Given the description of an element on the screen output the (x, y) to click on. 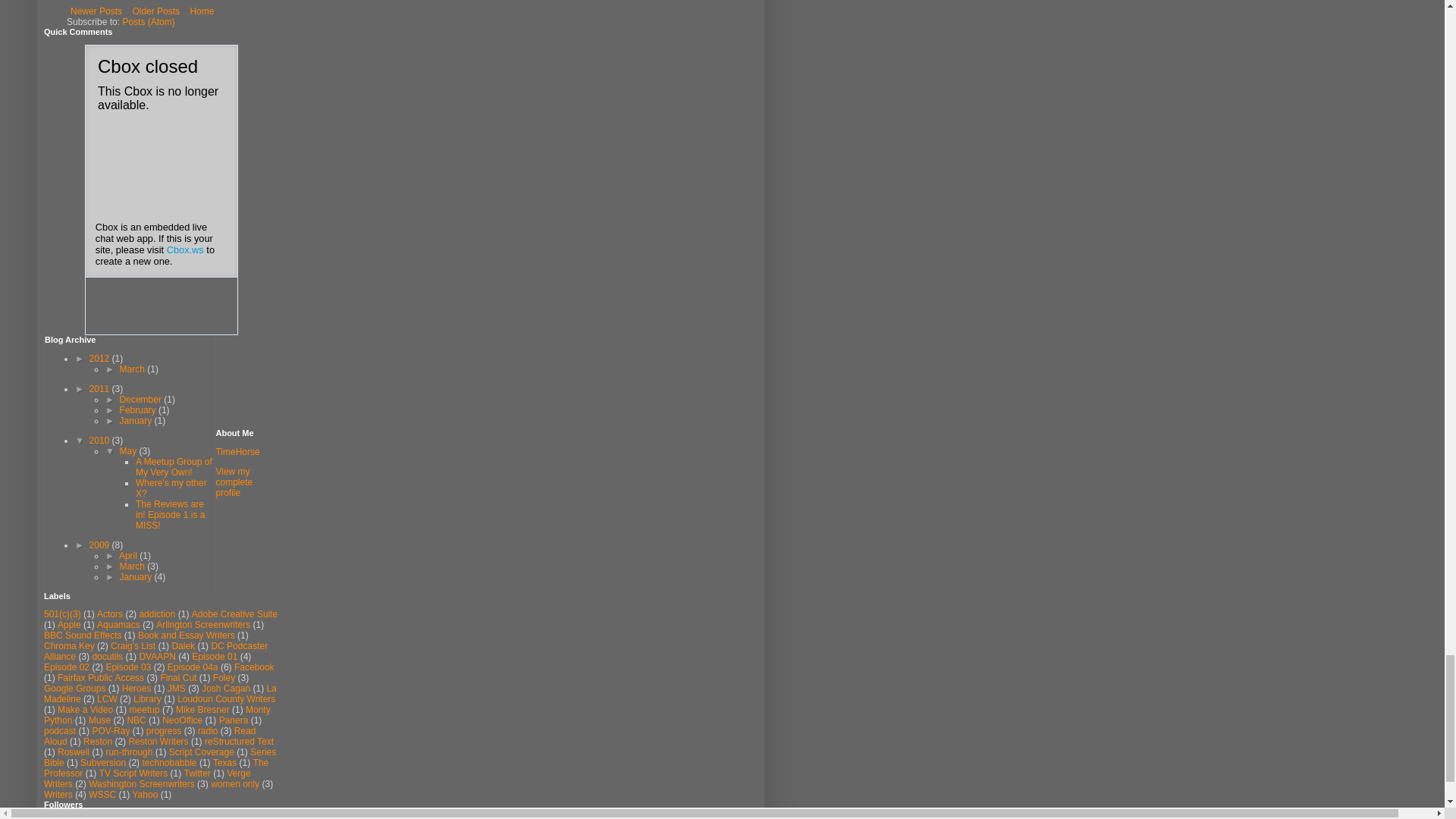
Older Posts (155, 11)
Newer Posts (95, 11)
